Given the description of an element on the screen output the (x, y) to click on. 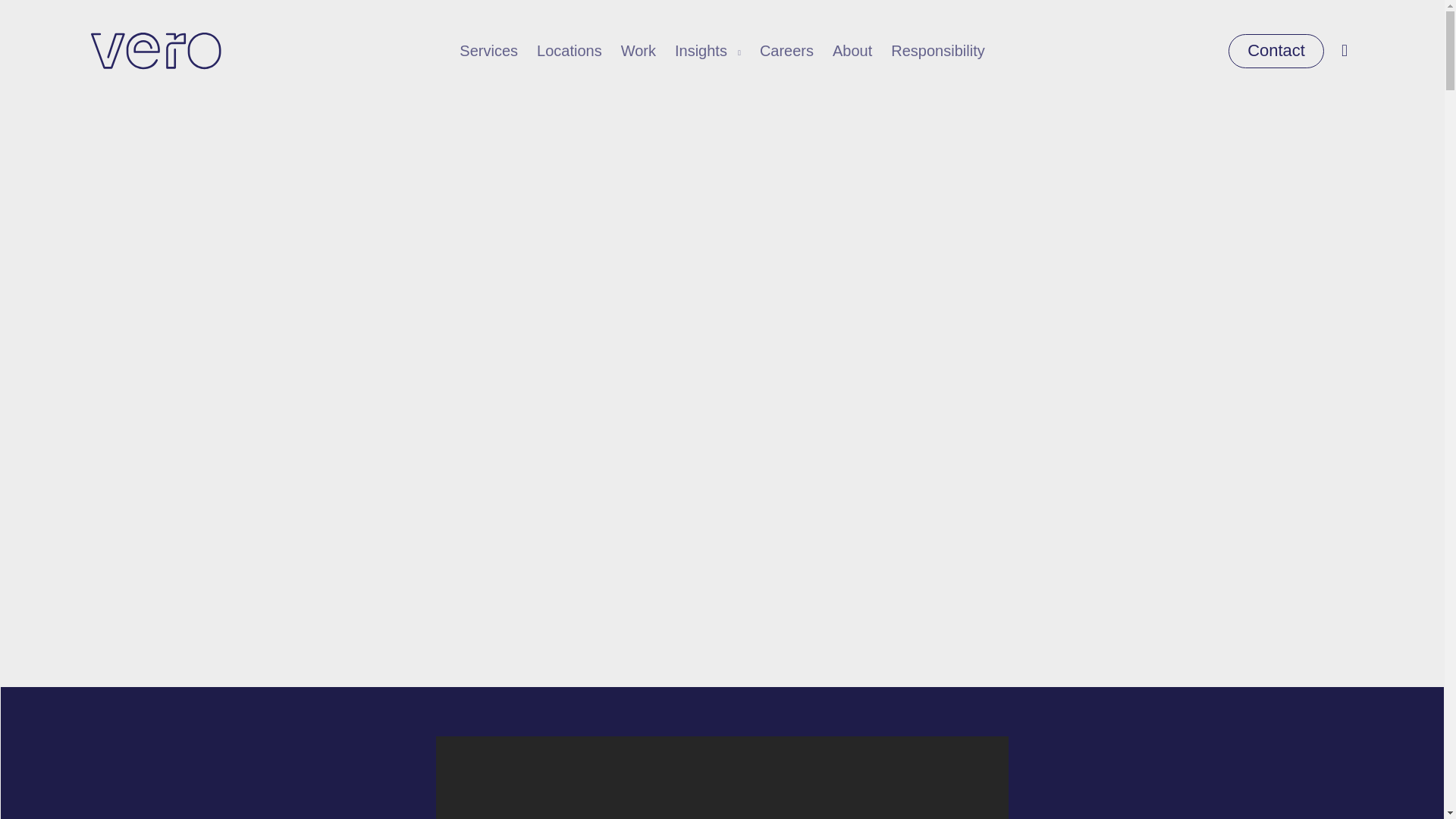
Locations (569, 50)
Services (489, 50)
Careers (786, 50)
Insights (708, 50)
Careers (786, 50)
Services (489, 50)
Work (638, 50)
Locations (569, 50)
About (852, 50)
Responsibility (937, 50)
